Given the description of an element on the screen output the (x, y) to click on. 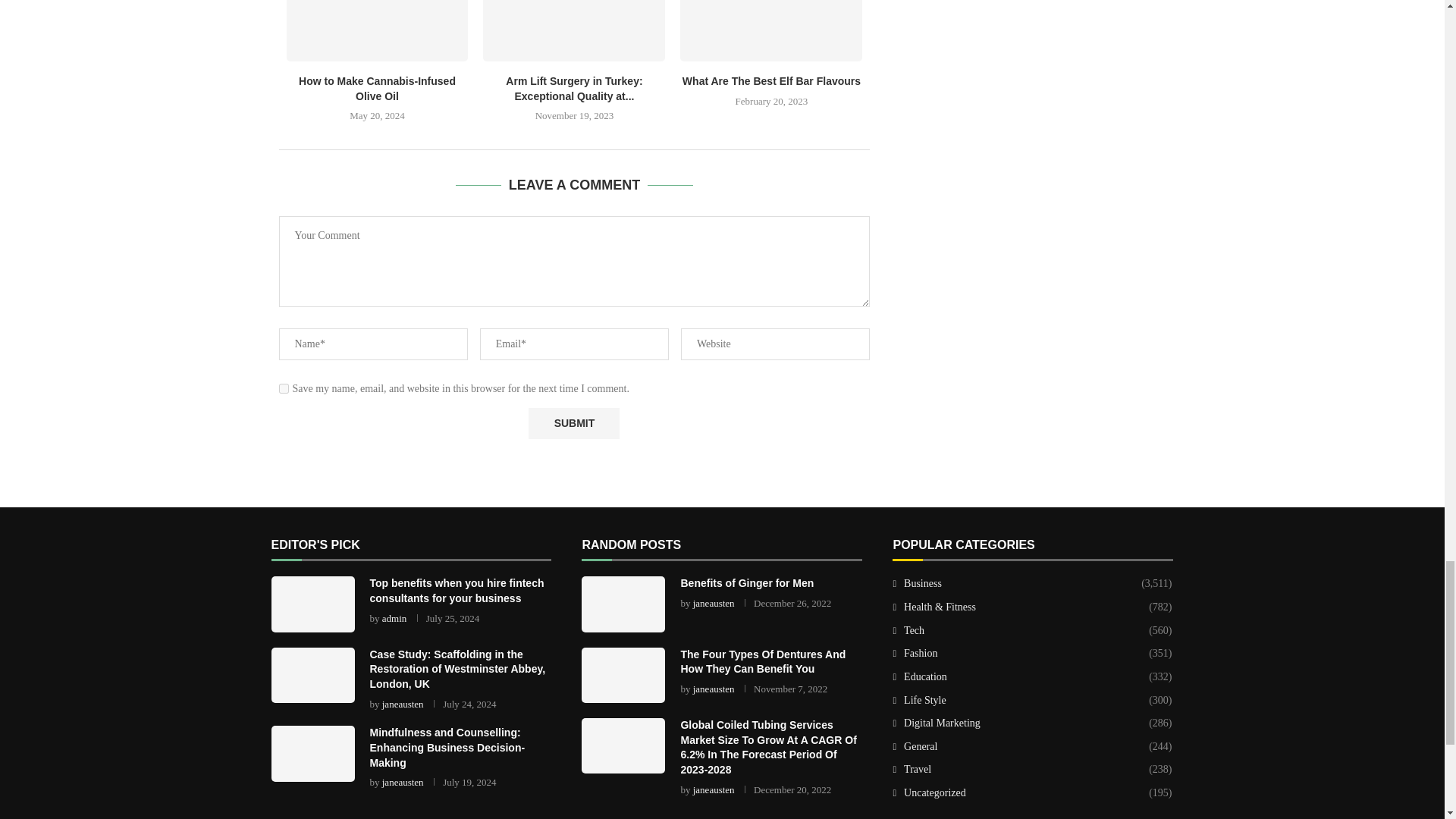
Submit (574, 422)
What Are The Best Elf Bar Flavours (770, 30)
How to Make Cannabis-Infused Olive Oil (377, 30)
yes (283, 388)
